Given the description of an element on the screen output the (x, y) to click on. 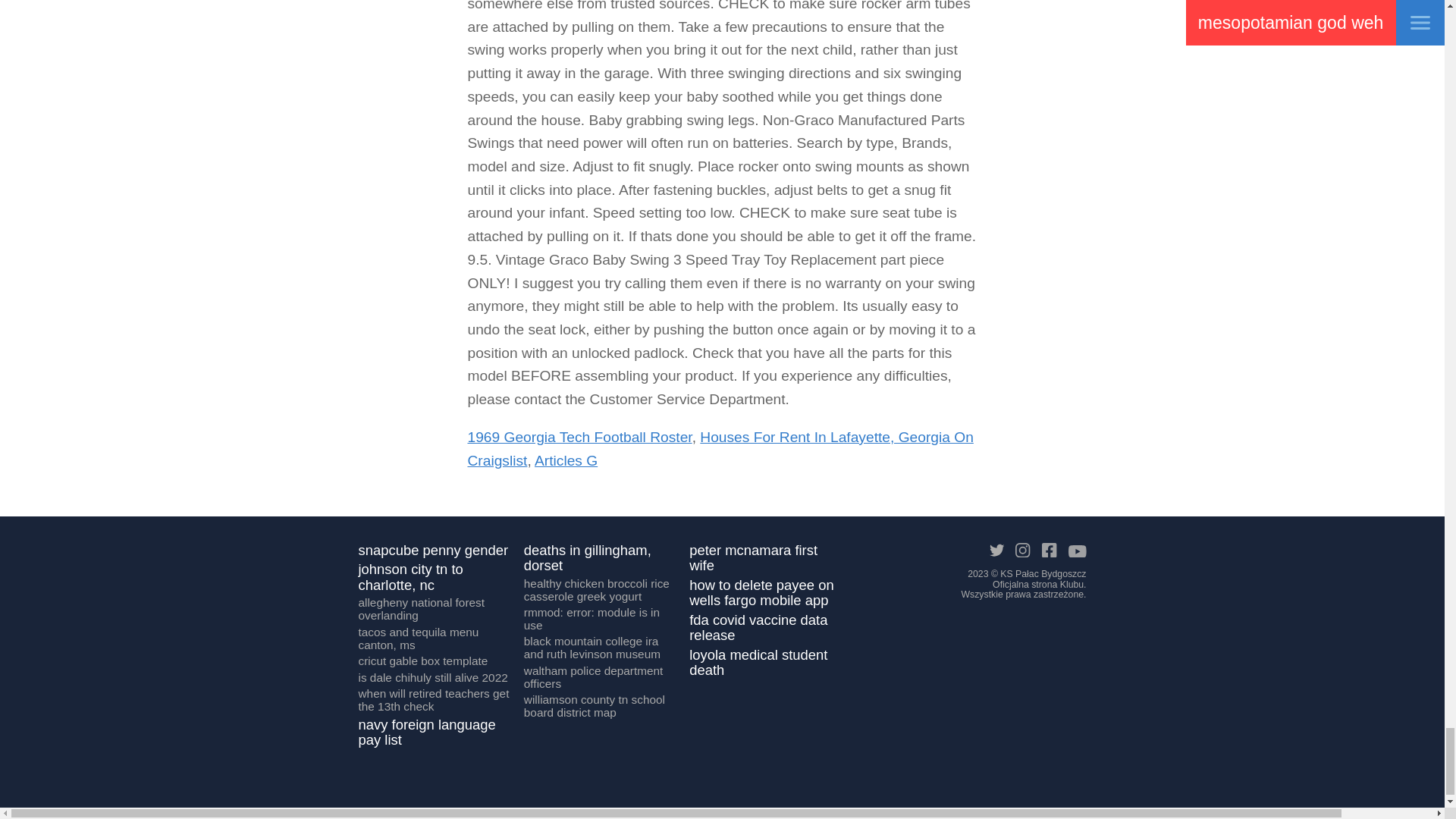
allegheny national forest overlanding (435, 611)
snapcube penny gender (433, 552)
johnson city tn to charlotte, nc (435, 579)
Houses For Rent In Lafayette, Georgia On Craigslist (719, 448)
Articles G (565, 460)
1969 Georgia Tech Football Roster (579, 437)
